Given the description of an element on the screen output the (x, y) to click on. 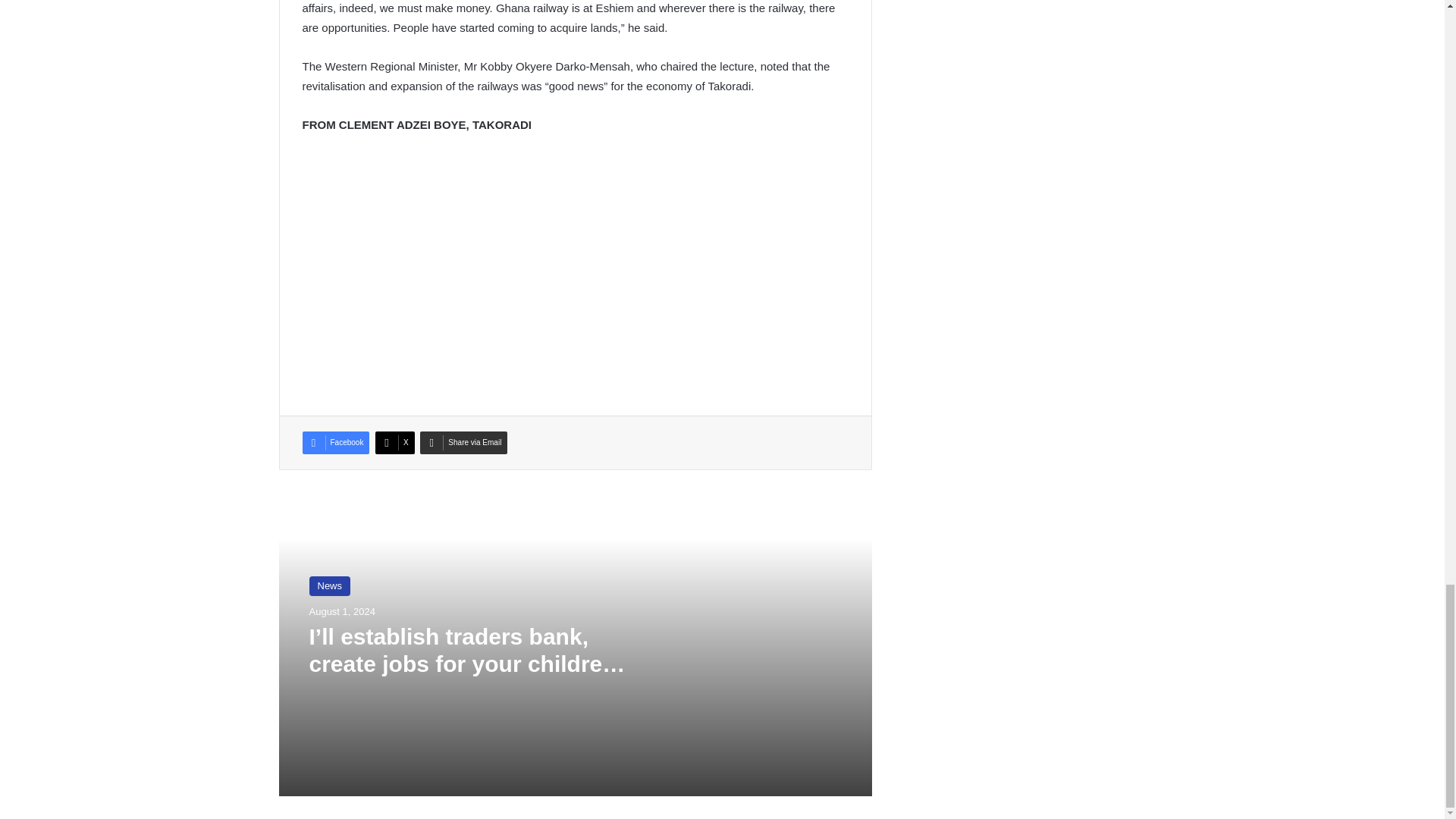
X (394, 442)
Share via Email (463, 442)
Facebook (335, 442)
X (394, 442)
Facebook (335, 442)
Share via Email (463, 442)
News (329, 586)
